Given the description of an element on the screen output the (x, y) to click on. 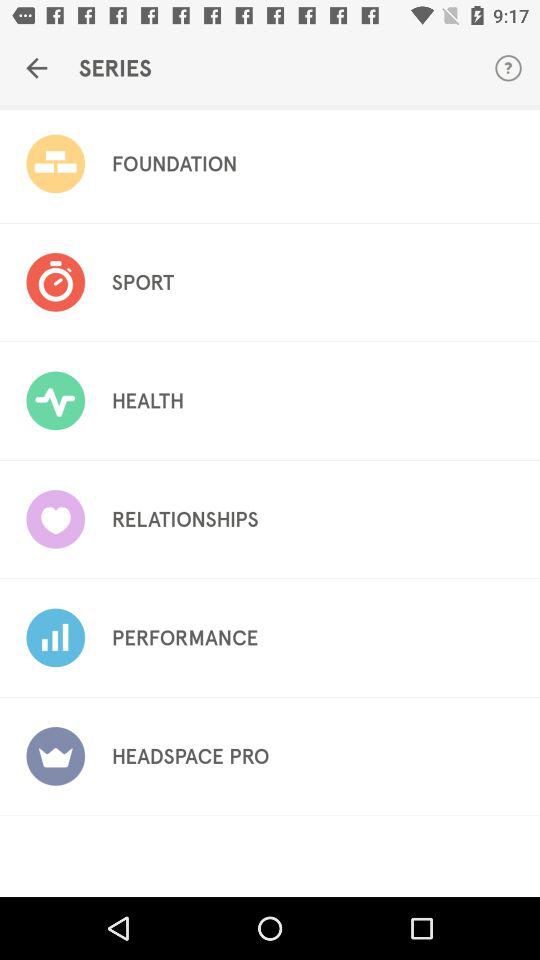
open relationships item (184, 519)
